Given the description of an element on the screen output the (x, y) to click on. 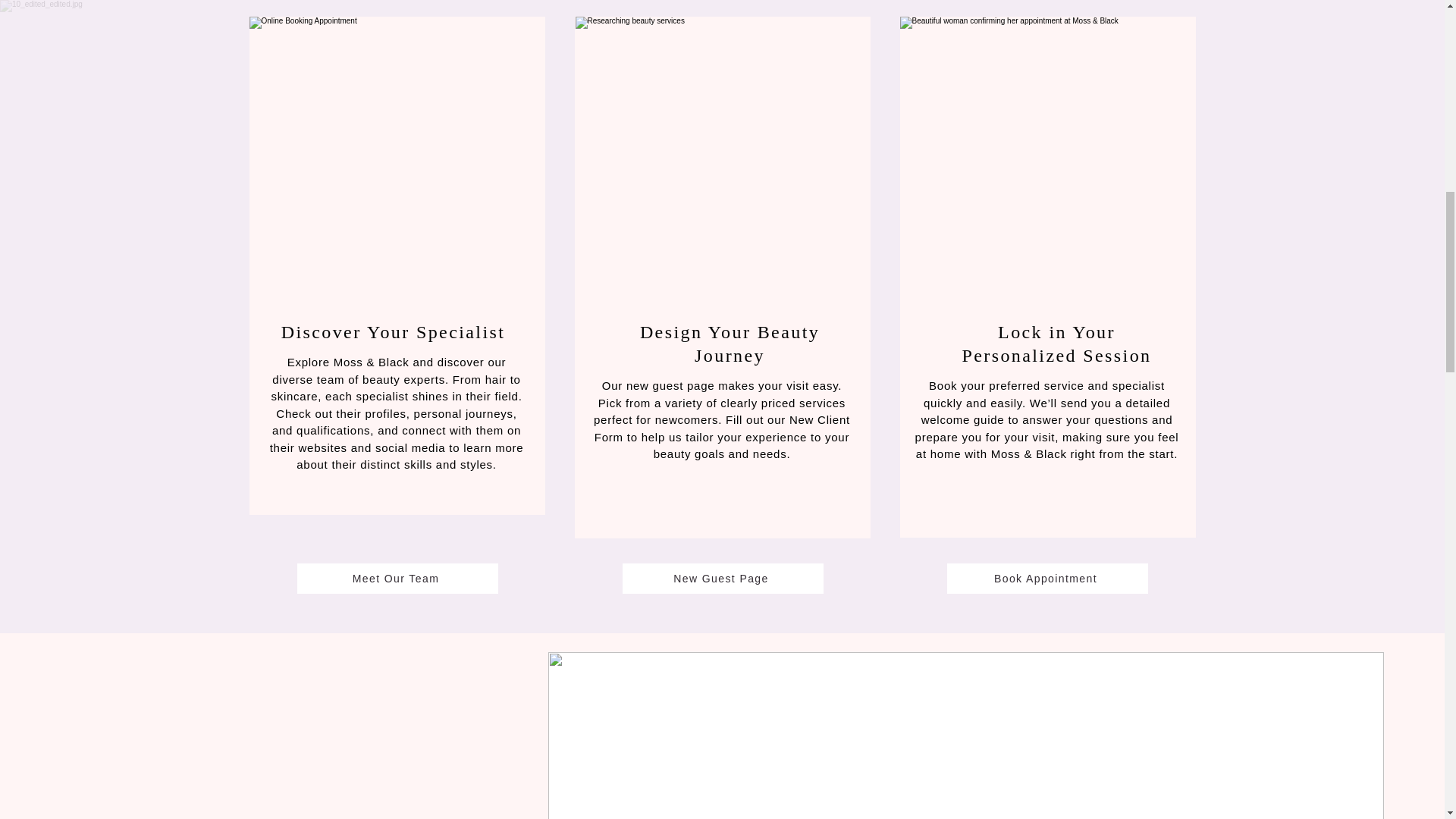
Lifestyle-1121-SB-Pixistock-68.jpg (722, 159)
Meet Our Team (397, 578)
Lifestyle-921-SW-Pixistock-24-scaled.jpg (1047, 159)
Book Appointment (1046, 578)
New Guest Page (721, 578)
